Given the description of an element on the screen output the (x, y) to click on. 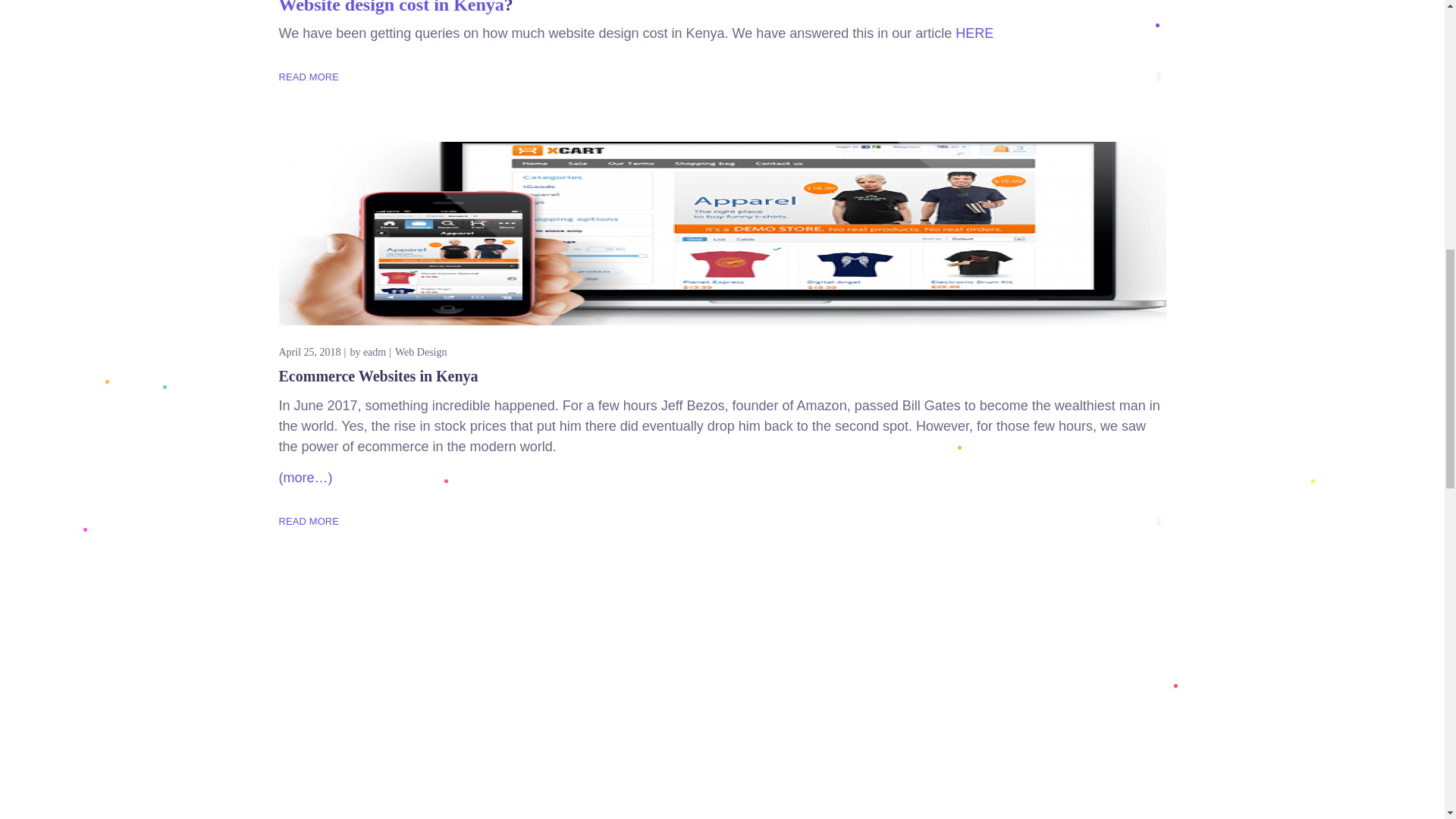
HERE (973, 32)
READ MORE (309, 76)
Website design cost in Kenya (391, 7)
